Given the description of an element on the screen output the (x, y) to click on. 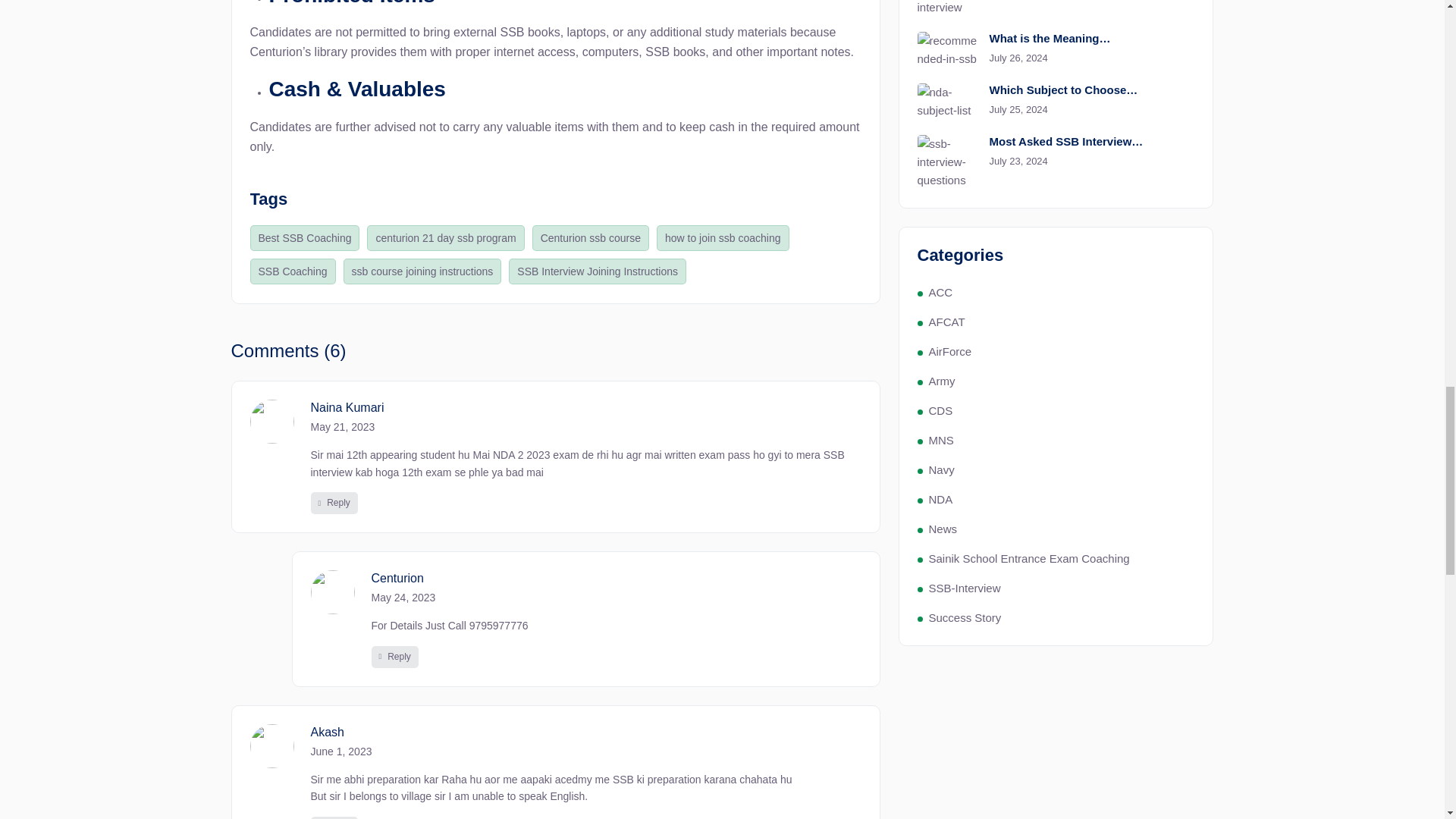
SSB Coaching (293, 271)
Reply (395, 657)
ssb course joining instructions (422, 271)
Centurion ssb course (590, 237)
SSB Interview Joining Instructions (596, 271)
Centurion (616, 578)
Reply (334, 817)
Naina Kumari (586, 407)
how to join ssb coaching (722, 237)
Akash (586, 731)
